Given the description of an element on the screen output the (x, y) to click on. 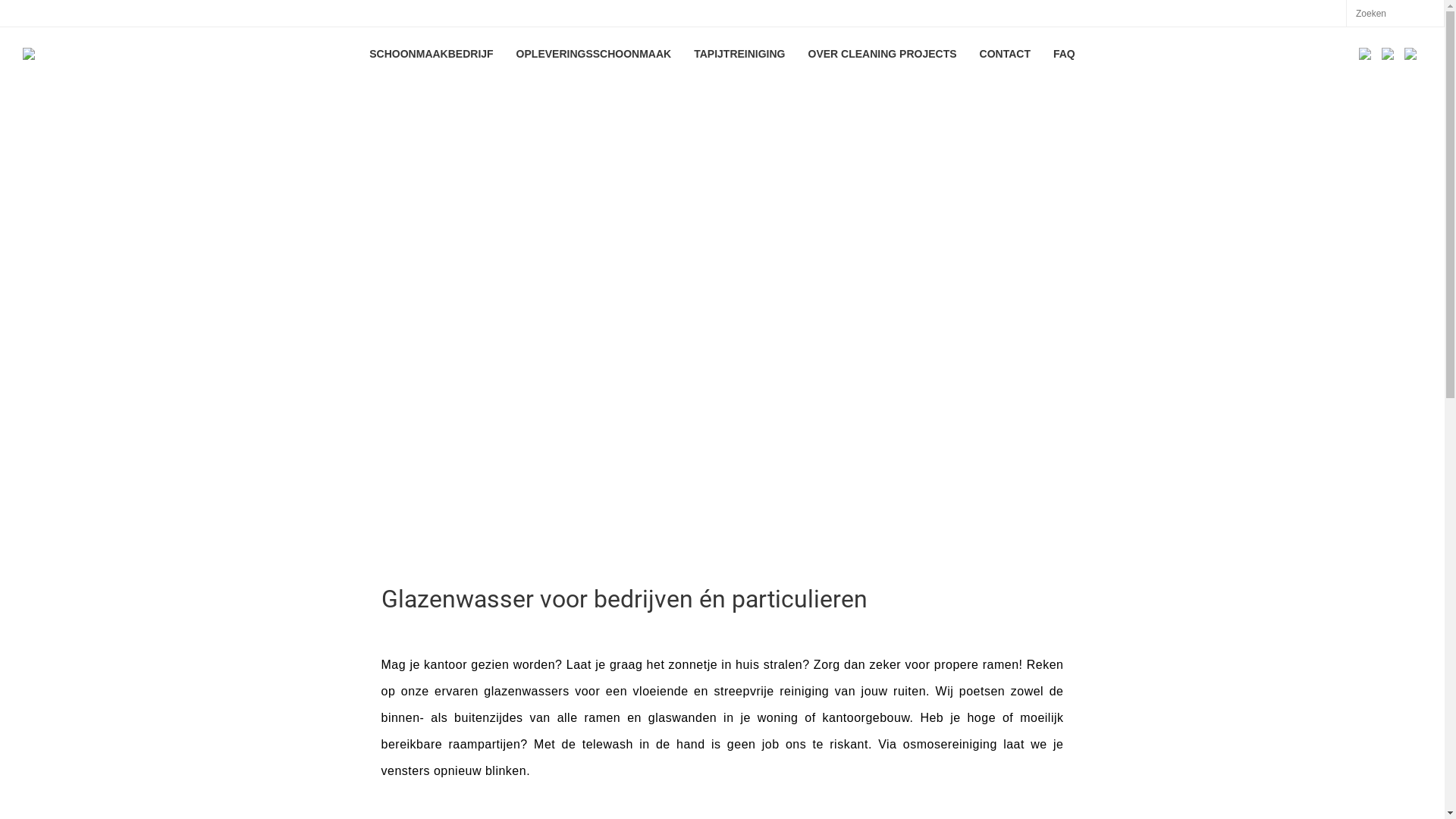
Cleaning Projects Facebook Element type: hover (1364, 53)
Cleaning Projects X Element type: hover (1410, 53)
TAPIJTREINIGING Element type: text (739, 53)
OVER CLEANING PROJECTS Element type: text (881, 53)
CONTACT Element type: text (1004, 53)
SCHOONMAAKBEDRIJF Element type: text (430, 53)
Cleaning Projects Element type: hover (162, 53)
Cleaning Projects Instagram Element type: hover (1387, 53)
OPLEVERINGSSCHOONMAAK Element type: text (593, 53)
FAQ Element type: text (1064, 53)
